Given the description of an element on the screen output the (x, y) to click on. 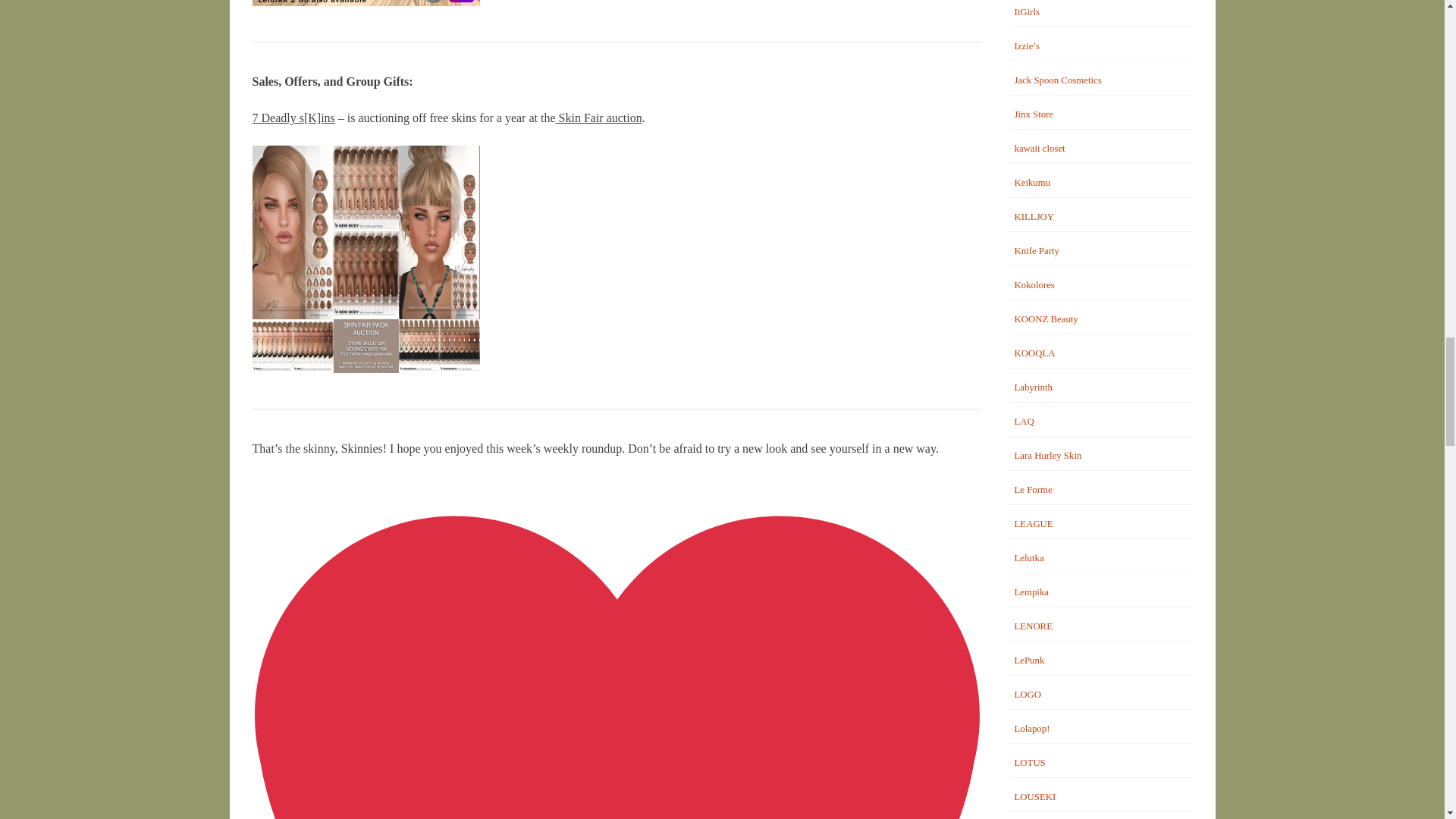
Skin Fair auction (599, 117)
